Given the description of an element on the screen output the (x, y) to click on. 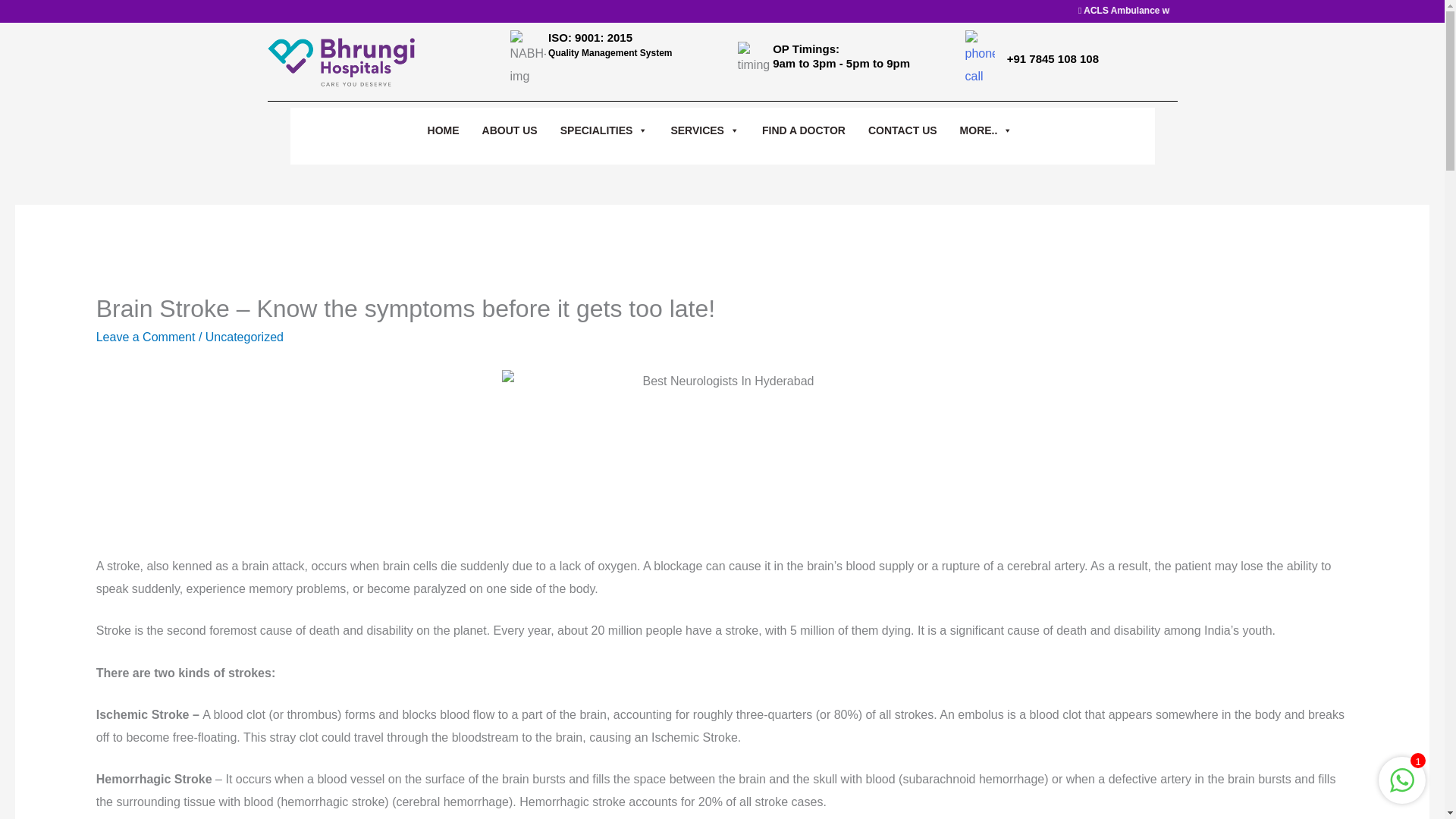
MORE.. (986, 130)
FIND A DOCTOR (803, 130)
SPECIALITIES (604, 130)
HOME (443, 130)
CONTACT US (902, 130)
ABOUT US (509, 130)
WhatsApp Image 2021 11 26 at 17.45.43 2 (722, 453)
SERVICES (704, 130)
